Given the description of an element on the screen output the (x, y) to click on. 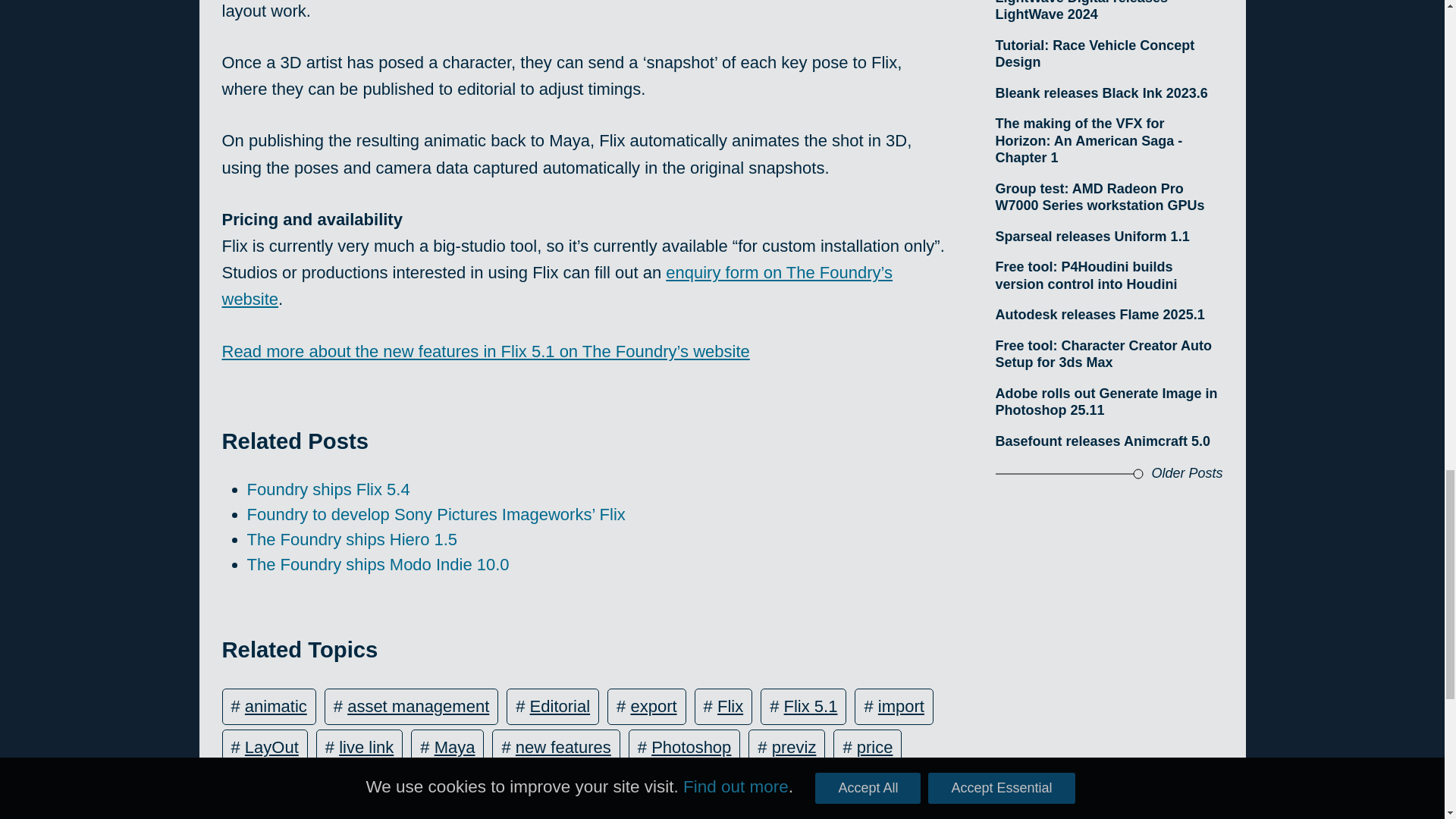
Foundry ships Flix 5.4 (328, 488)
asset management (418, 705)
animatic (275, 705)
Maya (454, 746)
export (653, 705)
Photoshop (690, 746)
import (900, 705)
The Foundry ships Hiero 1.5 (352, 538)
shot review (445, 787)
Editorial (559, 705)
price (875, 746)
live link (366, 746)
previz (793, 746)
Flix 5.1 (811, 705)
price on enquiry (304, 787)
